Given the description of an element on the screen output the (x, y) to click on. 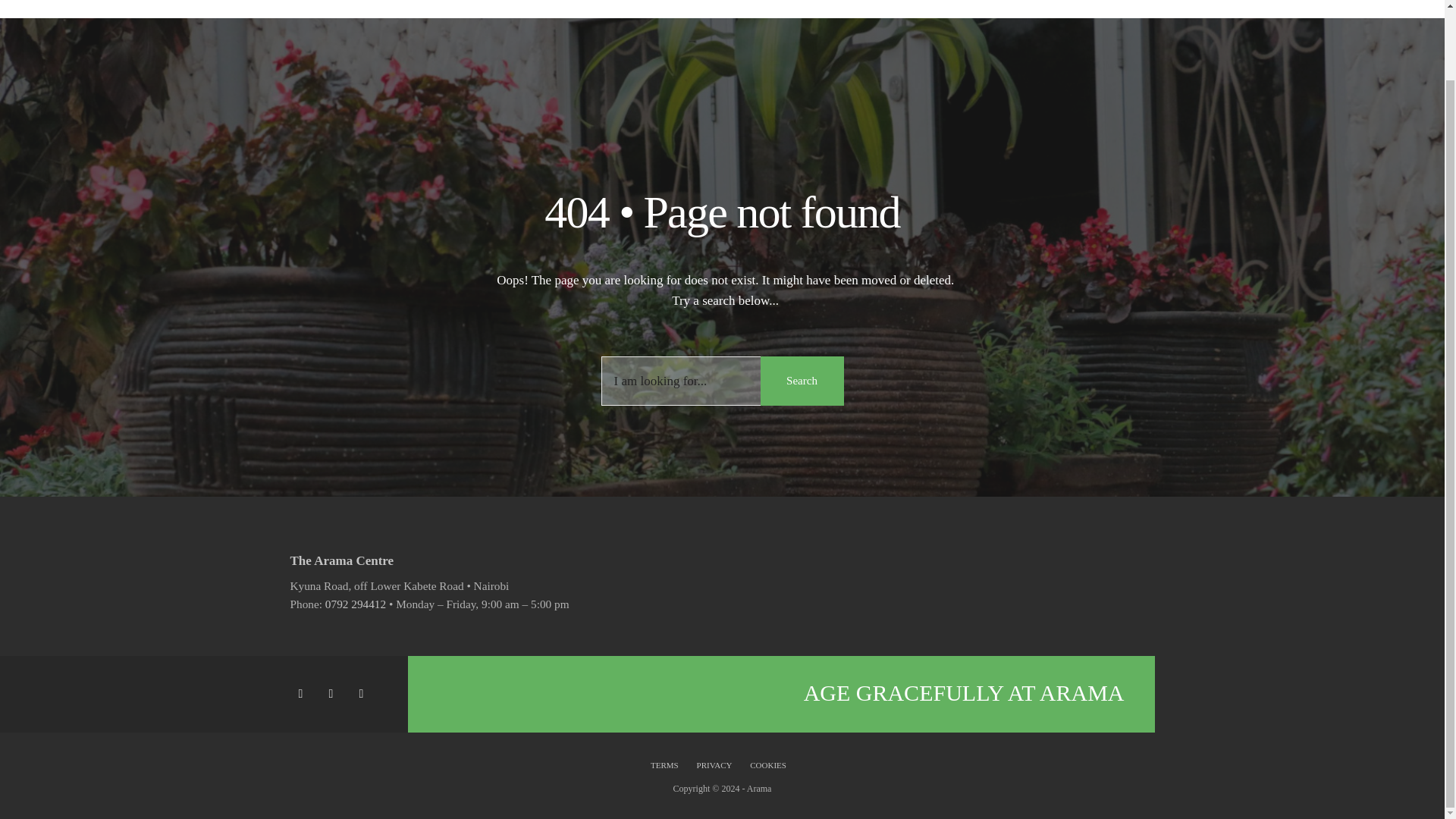
Facebook (302, 693)
COOKIES (767, 764)
0792 294412 (354, 603)
TERMS (667, 764)
PRIVACY (713, 764)
I am looking for... (721, 380)
Instagram (363, 693)
Search (801, 380)
Twitter (333, 693)
